Given the description of an element on the screen output the (x, y) to click on. 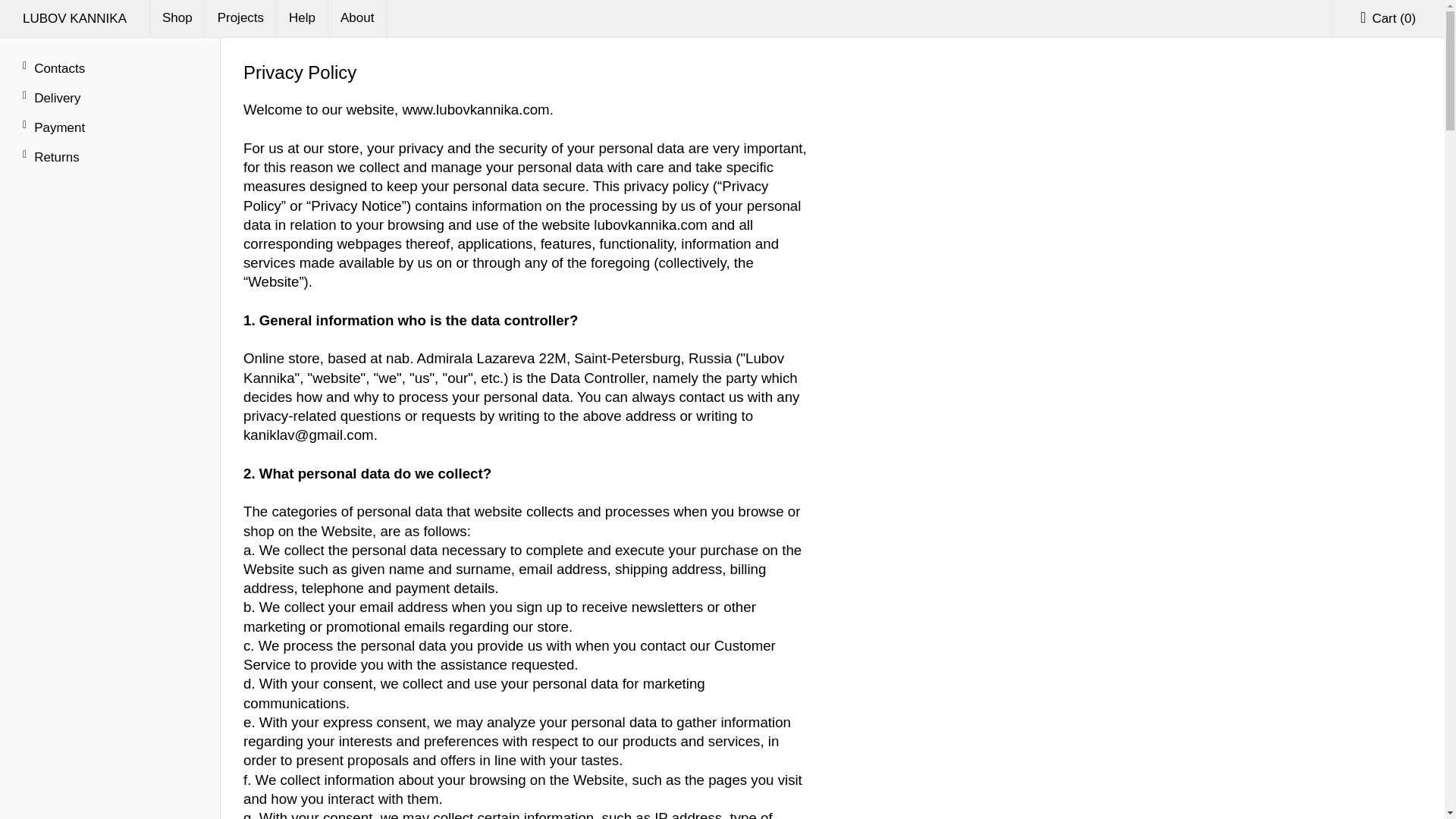
Help (302, 18)
Projects (240, 18)
Delivery (110, 98)
LUBOV KANNIKA (74, 18)
Returns (110, 158)
Payment (110, 128)
Contacts (110, 68)
LUBOV KANNIKA (74, 18)
Shop (177, 18)
About (358, 18)
